Given the description of an element on the screen output the (x, y) to click on. 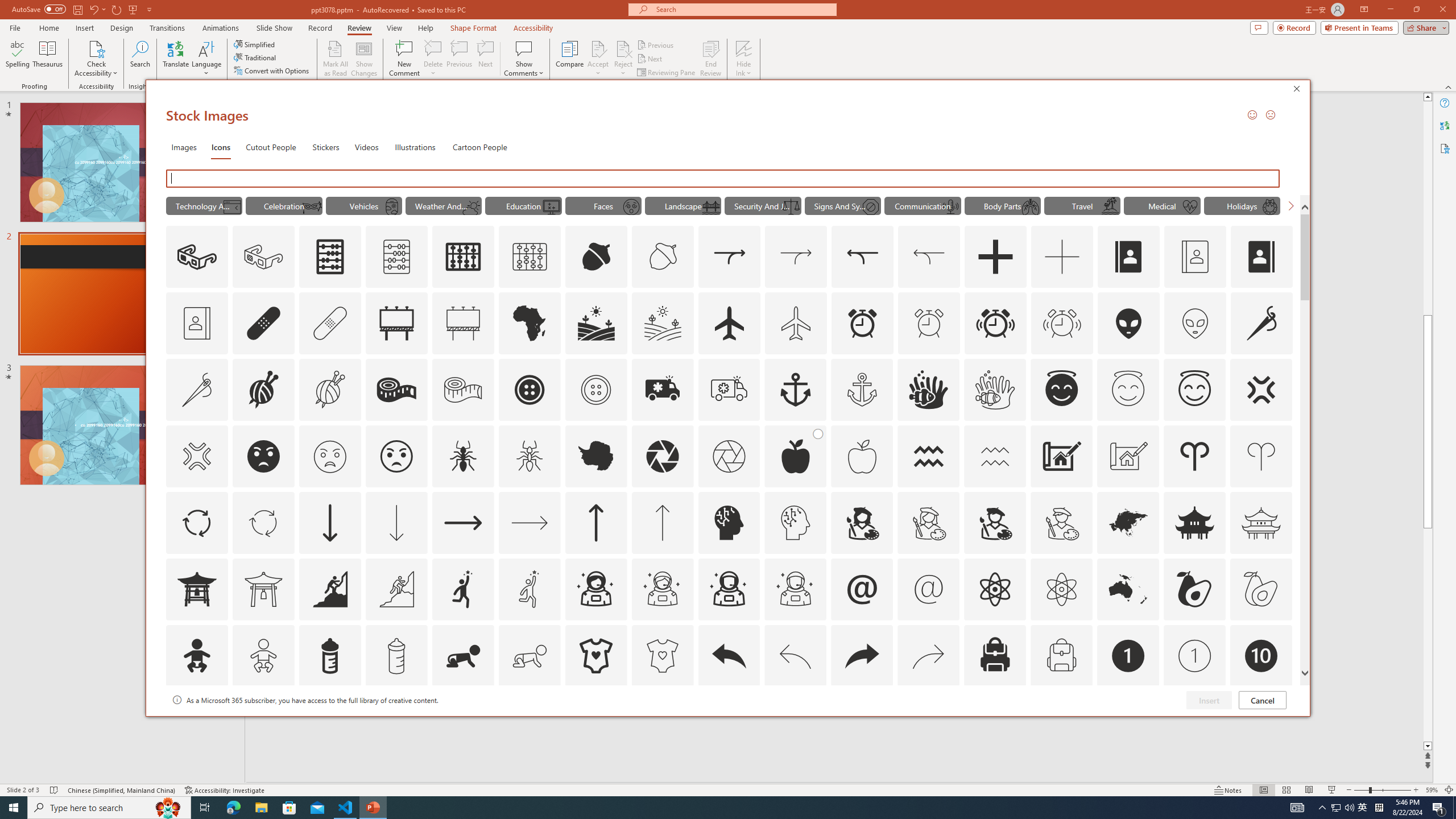
AutomationID: Icons_Badge4 (529, 721)
AutomationID: Icons_ArtificialIntelligence (729, 522)
"Signs And Symbols" Icons. (842, 205)
Videos (366, 146)
AutomationID: Icons_AddressBook_RTL (1261, 256)
Cutout People (271, 146)
AutomationID: Icons_AnemoneAndClownfish_M (995, 389)
AutomationID: Icons_Abacus1 (462, 256)
AutomationID: Icons_PlaneWindow_M (391, 206)
